Given the description of an element on the screen output the (x, y) to click on. 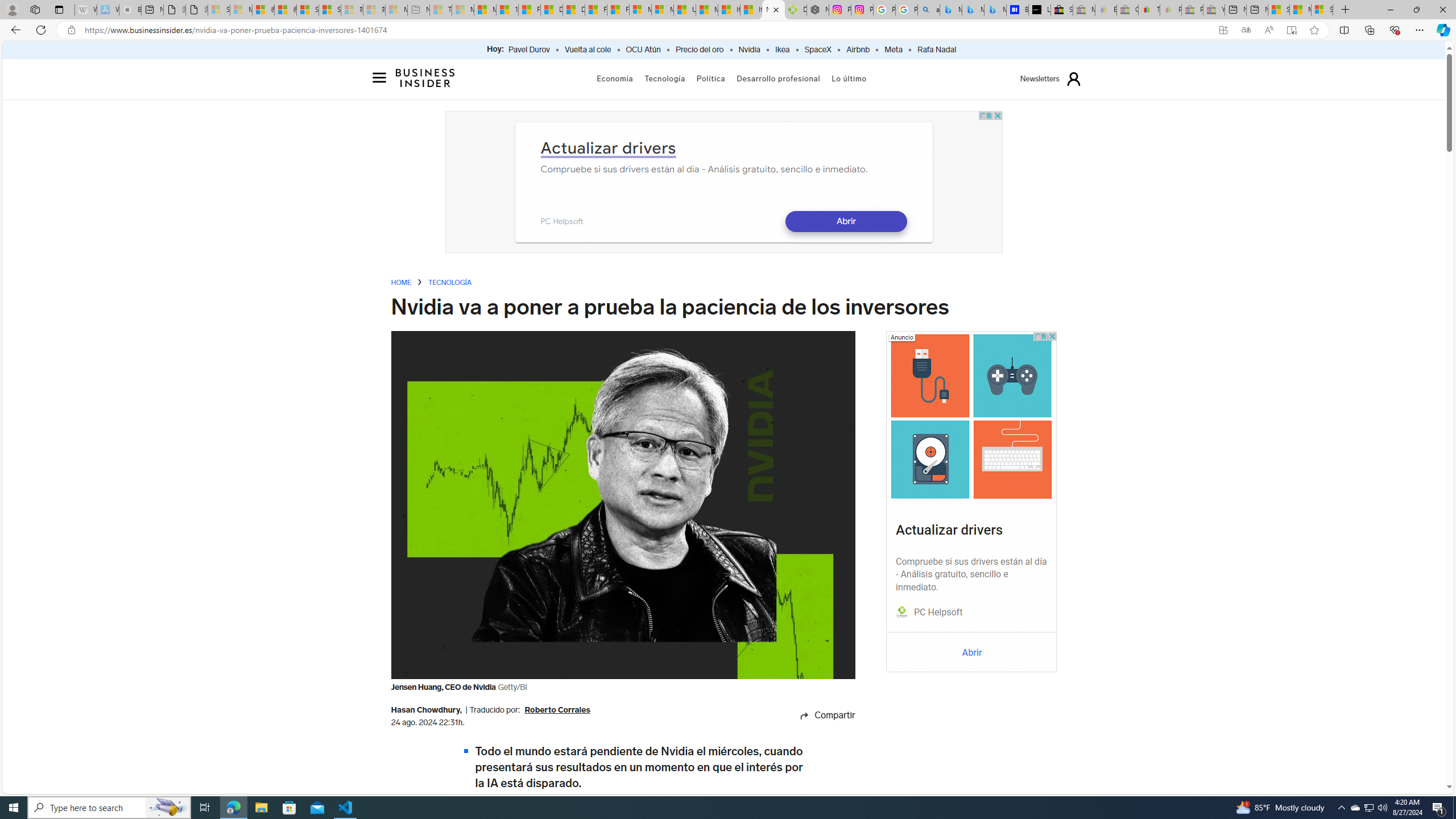
Whatsapp (815, 777)
Logo BusinessInsider.es (425, 76)
Precio del oro (699, 49)
Rafa Nadal (936, 49)
Yard, Garden & Outdoor Living - Sleeping (1214, 9)
PC Helpsoft (937, 612)
Airbnb (857, 49)
Press Room - eBay Inc. - Sleeping (1192, 9)
Vuelta al cole (587, 49)
